Given the description of an element on the screen output the (x, y) to click on. 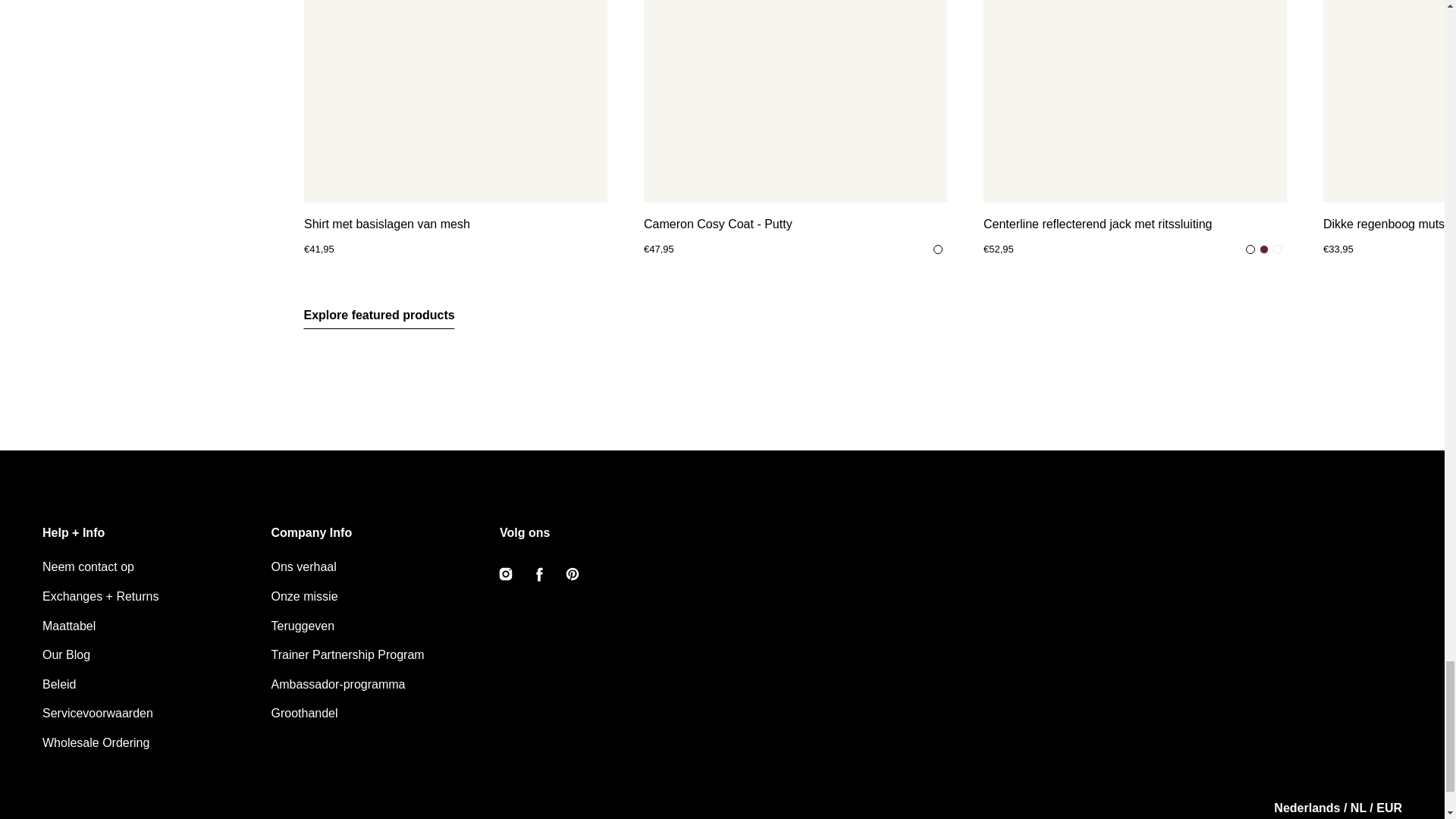
Cameron Cosy Coat - Putty (794, 101)
Centerline reflecterend jack met ritssluiting (1133, 224)
Shirt met basislagen van mesh (454, 101)
Cameron Cosy Coat - Putty (794, 224)
Centerline reflecterend jack met ritssluiting (1133, 101)
Shirt met basislagen van mesh (454, 224)
